Given the description of an element on the screen output the (x, y) to click on. 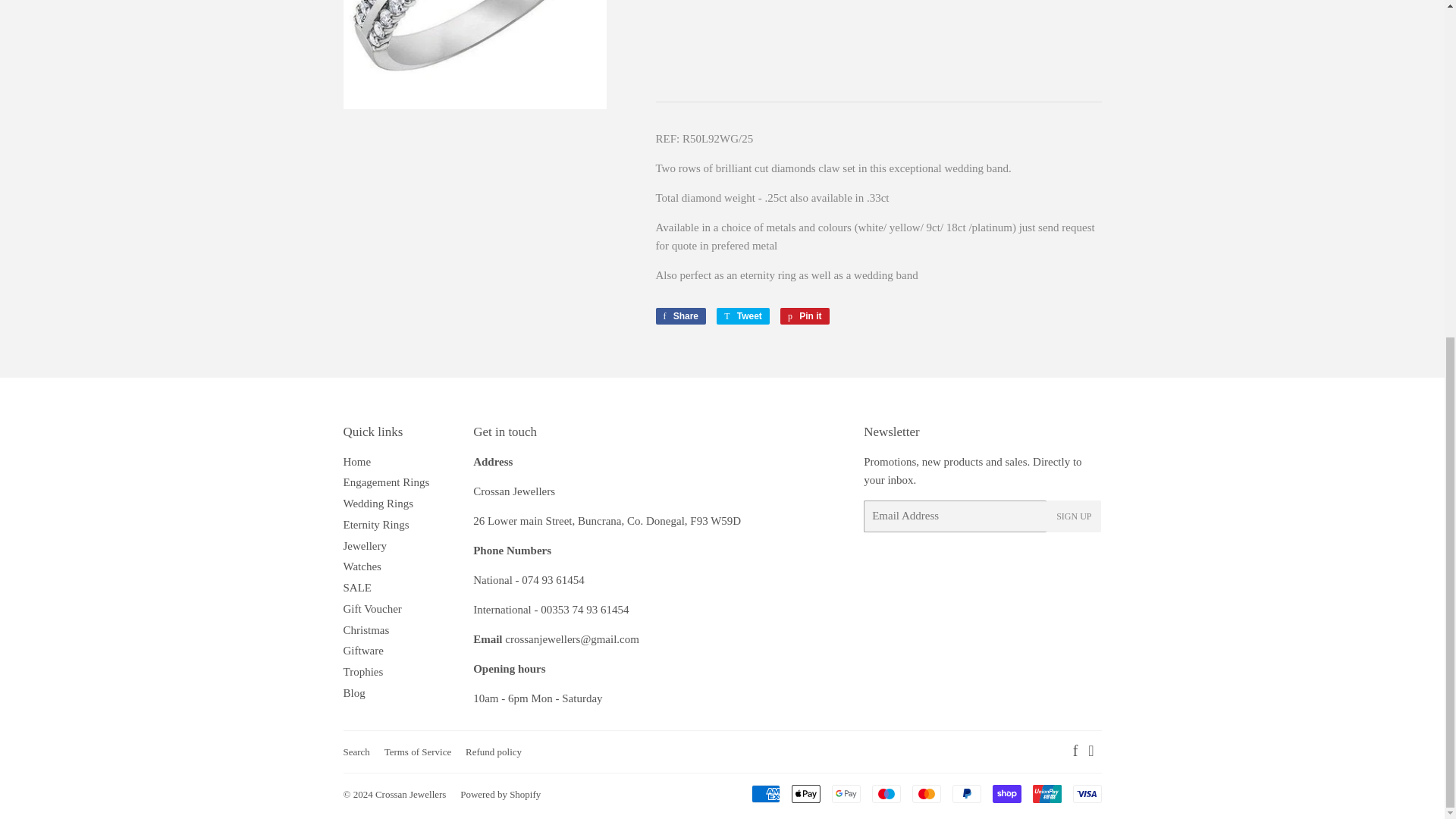
Shop Pay (1005, 793)
Tweet on Twitter (743, 315)
PayPal (966, 793)
Pin on Pinterest (804, 315)
Maestro (886, 793)
American Express (764, 793)
Visa (1085, 793)
Union Pay (1046, 793)
Mastercard (925, 793)
Apple Pay (806, 793)
Share on Facebook (680, 315)
Google Pay (845, 793)
